Given the description of an element on the screen output the (x, y) to click on. 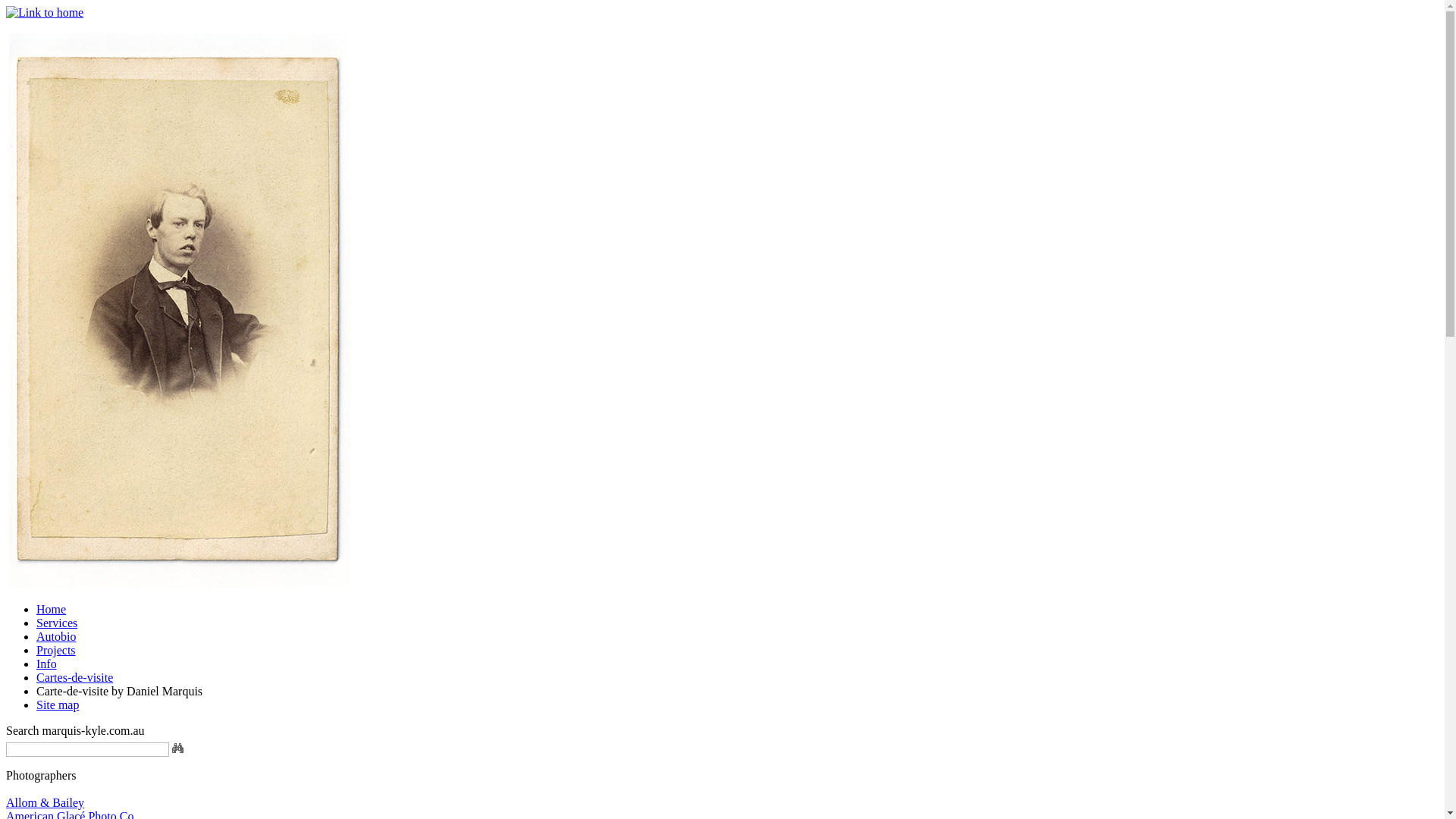
Services Element type: text (56, 622)
Site map Element type: text (57, 704)
Back to gallery of cartes-de-visite by Daniel Marquis Element type: hover (179, 583)
Autobio Element type: text (55, 636)
Projects Element type: text (55, 649)
Cartes-de-visite Element type: text (74, 677)
Enter key words in this box Element type: hover (87, 749)
Info Element type: text (46, 663)
Home Element type: text (50, 608)
Allom & Bailey Element type: text (45, 802)
